Given the description of an element on the screen output the (x, y) to click on. 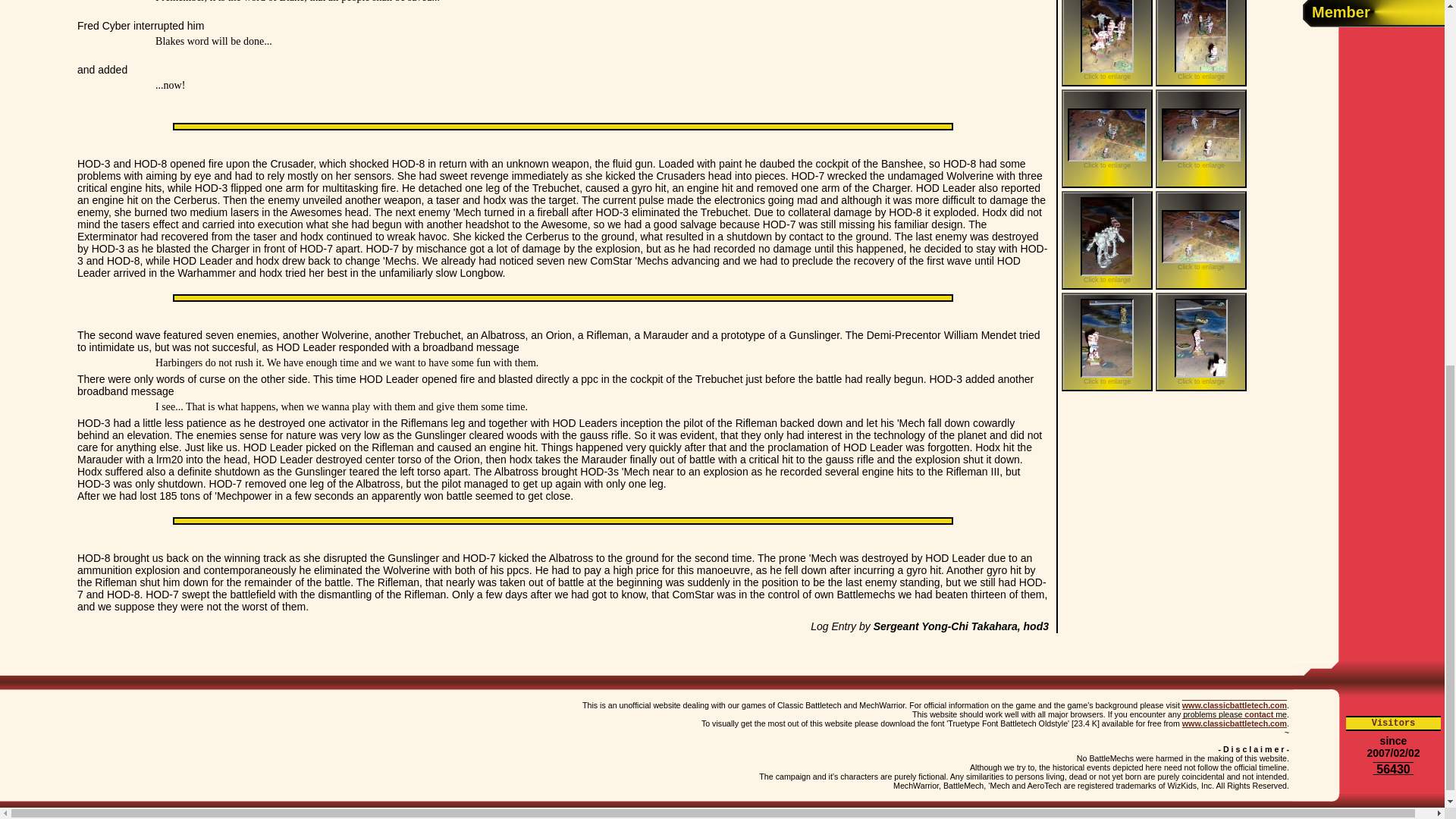
Click to enlarge (1201, 138)
Click to enlarge (1201, 341)
Click to enlarge (1107, 138)
Click to enlarge (1201, 43)
Click to enlarge (1107, 239)
Click to enlarge (1107, 43)
Click to enlarge (1107, 341)
Click to enlarge (1201, 239)
